Given the description of an element on the screen output the (x, y) to click on. 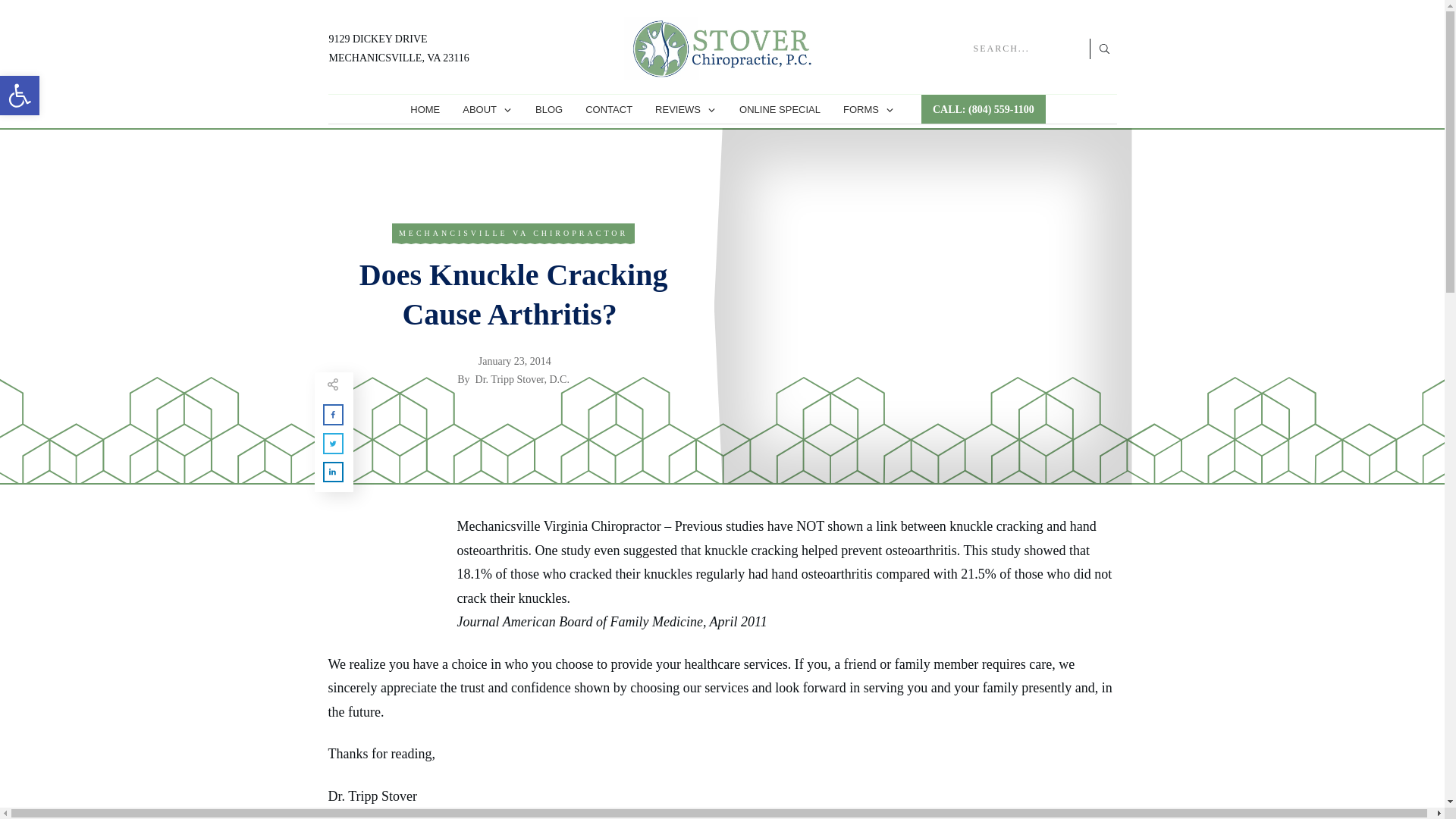
REVIEWS (685, 109)
CONTACT (608, 109)
ABOUT (487, 109)
Accessibility Tools (19, 95)
ONLINE SPECIAL (780, 109)
Accessibility Tools (19, 95)
MECHANCISVILLE VA CHIROPRACTOR (512, 233)
HOME (424, 109)
FORMS (869, 109)
Mechancisville VA Chiropractor (512, 233)
BLOG (548, 109)
9129 DICKEY DRIVE MECHANICSVILLE, VA 23116 (398, 48)
